Given the description of an element on the screen output the (x, y) to click on. 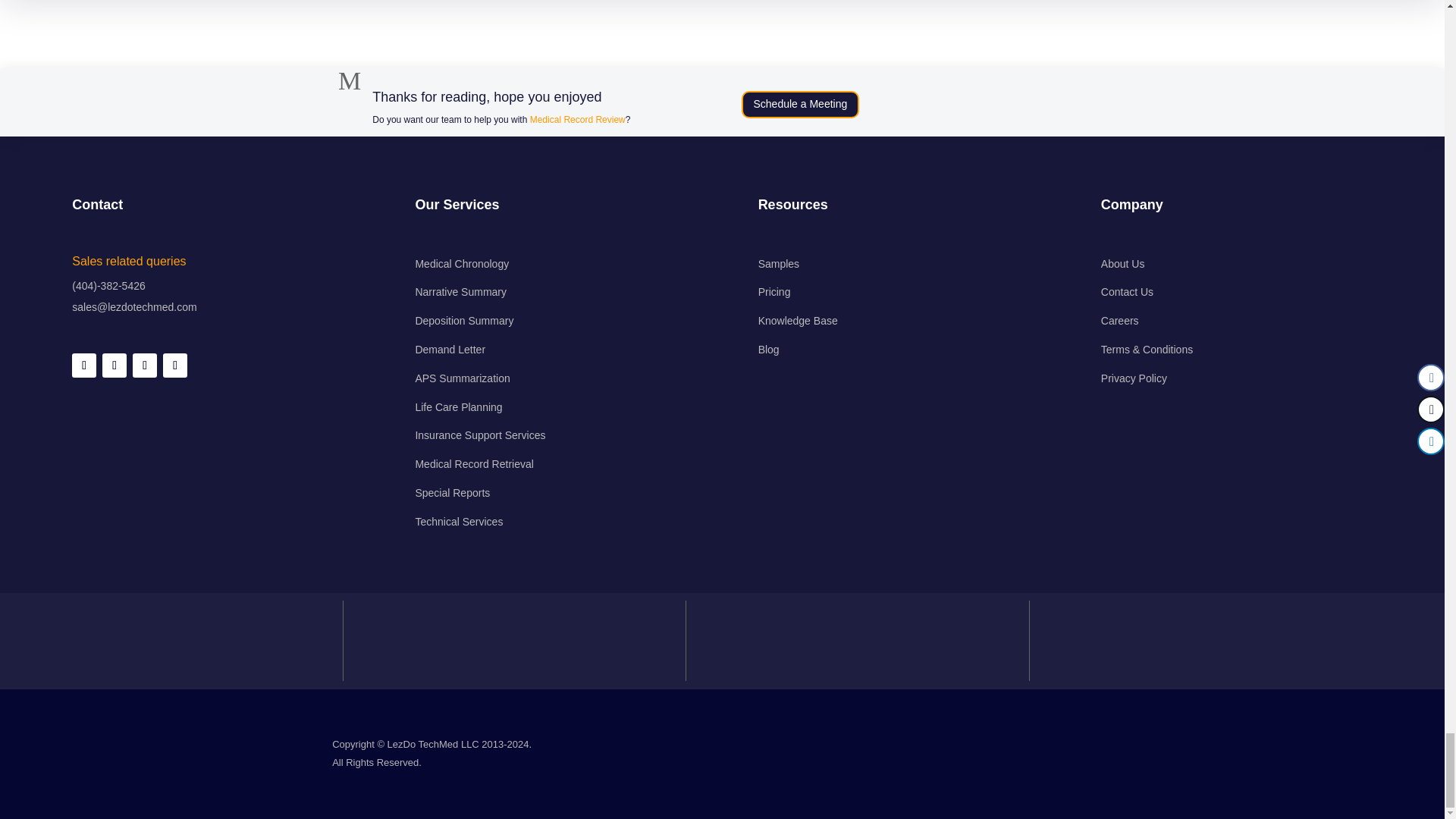
Follow on X (144, 364)
Follow on LinkedIn (113, 364)
Hipaa (166, 640)
young-female-doctor-with-crossed-arms-white-uniform (266, 111)
Follow on Instagram (175, 364)
Hitech (852, 640)
Follow on Facebook (83, 364)
